Given the description of an element on the screen output the (x, y) to click on. 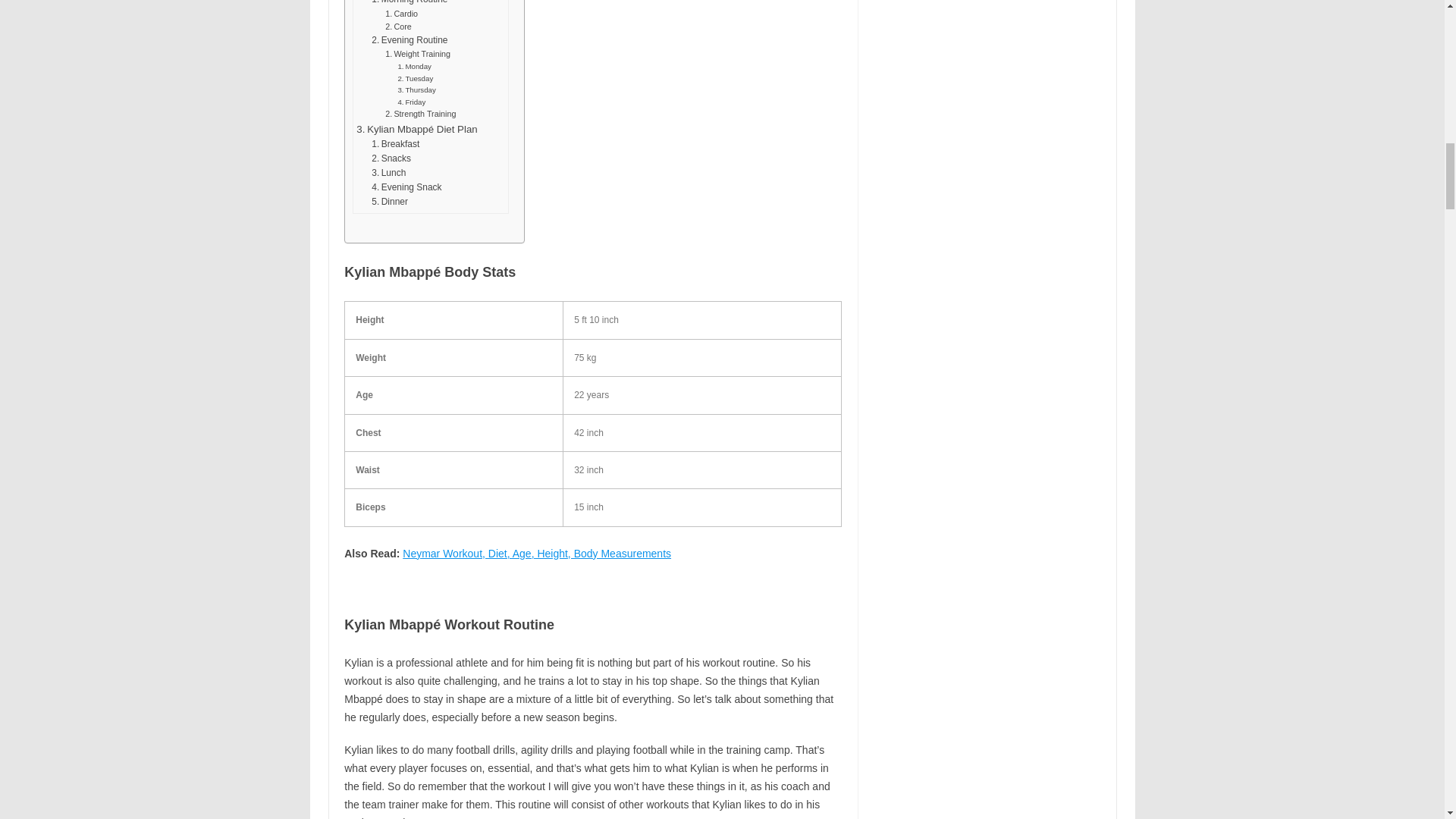
Monday (413, 66)
Friday (411, 102)
Morning Routine (408, 3)
Strength Training (420, 113)
Weight Training (417, 53)
Core (397, 26)
Breakfast (395, 144)
Evening Routine (408, 40)
Lunch (388, 173)
Cardio (401, 13)
Thursday (416, 90)
Evening Routine (408, 40)
Cardio (401, 13)
Monday (413, 66)
Tuesday (414, 78)
